Given the description of an element on the screen output the (x, y) to click on. 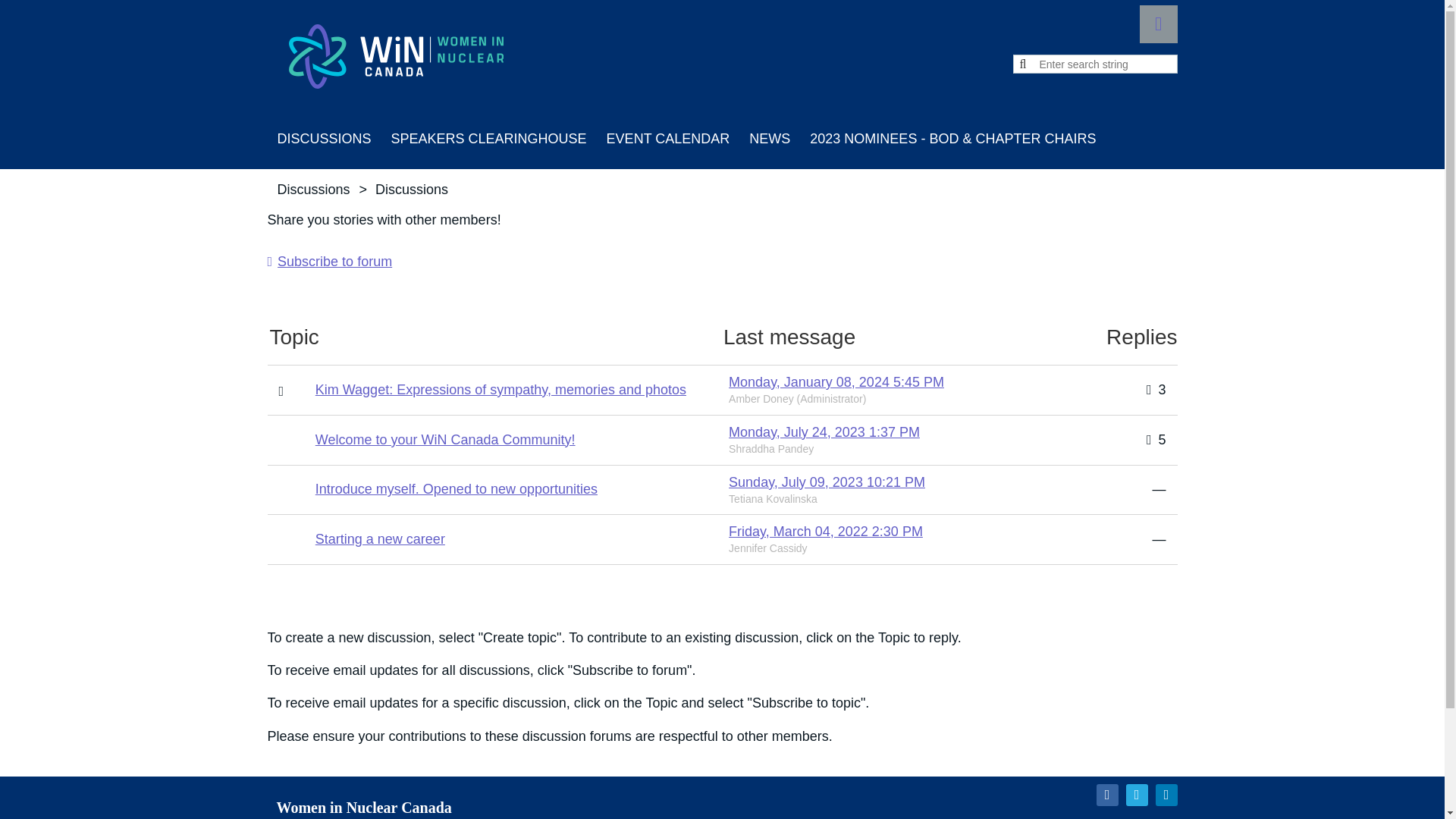
Monday, January 08, 2024 5:45 PM (836, 381)
Friday, March 04, 2022 2:30 PM (826, 531)
Monday, July 24, 2023 1:37 PM (824, 432)
Sunday, July 09, 2023 10:21 PM (826, 482)
News (769, 138)
Starting a new career (380, 539)
Speakers Clearinghouse (488, 138)
Subscribe to forum (328, 261)
Discussions (323, 138)
Welcome to your WiN Canada Community! (445, 439)
